Given the description of an element on the screen output the (x, y) to click on. 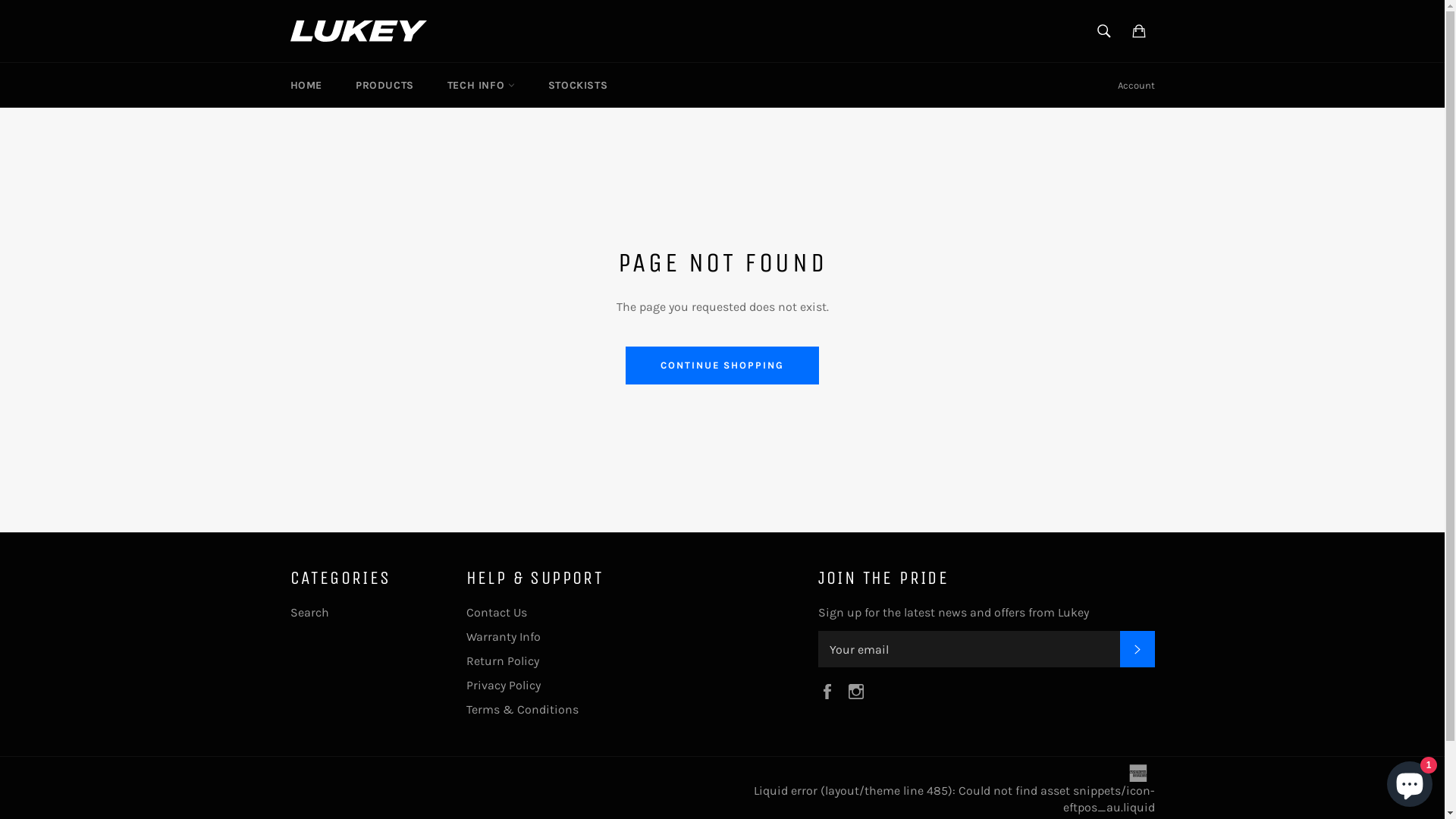
Return Policy Element type: text (501, 660)
Instagram Element type: text (859, 690)
Search Element type: text (1103, 31)
SUBSCRIBE Element type: text (1136, 648)
CONTINUE SHOPPING Element type: text (722, 365)
Account Element type: text (1136, 85)
Facebook Element type: text (830, 690)
Contact Us Element type: text (495, 612)
PRODUCTS Element type: text (384, 84)
Search Element type: text (308, 612)
Shopify online store chat Element type: hover (1409, 780)
STOCKISTS Element type: text (577, 84)
Cart Element type: text (1138, 31)
Terms & Conditions Element type: text (521, 709)
Privacy Policy Element type: text (502, 684)
HOME Element type: text (305, 84)
TECH INFO Element type: text (481, 84)
Warranty Info Element type: text (502, 636)
